Given the description of an element on the screen output the (x, y) to click on. 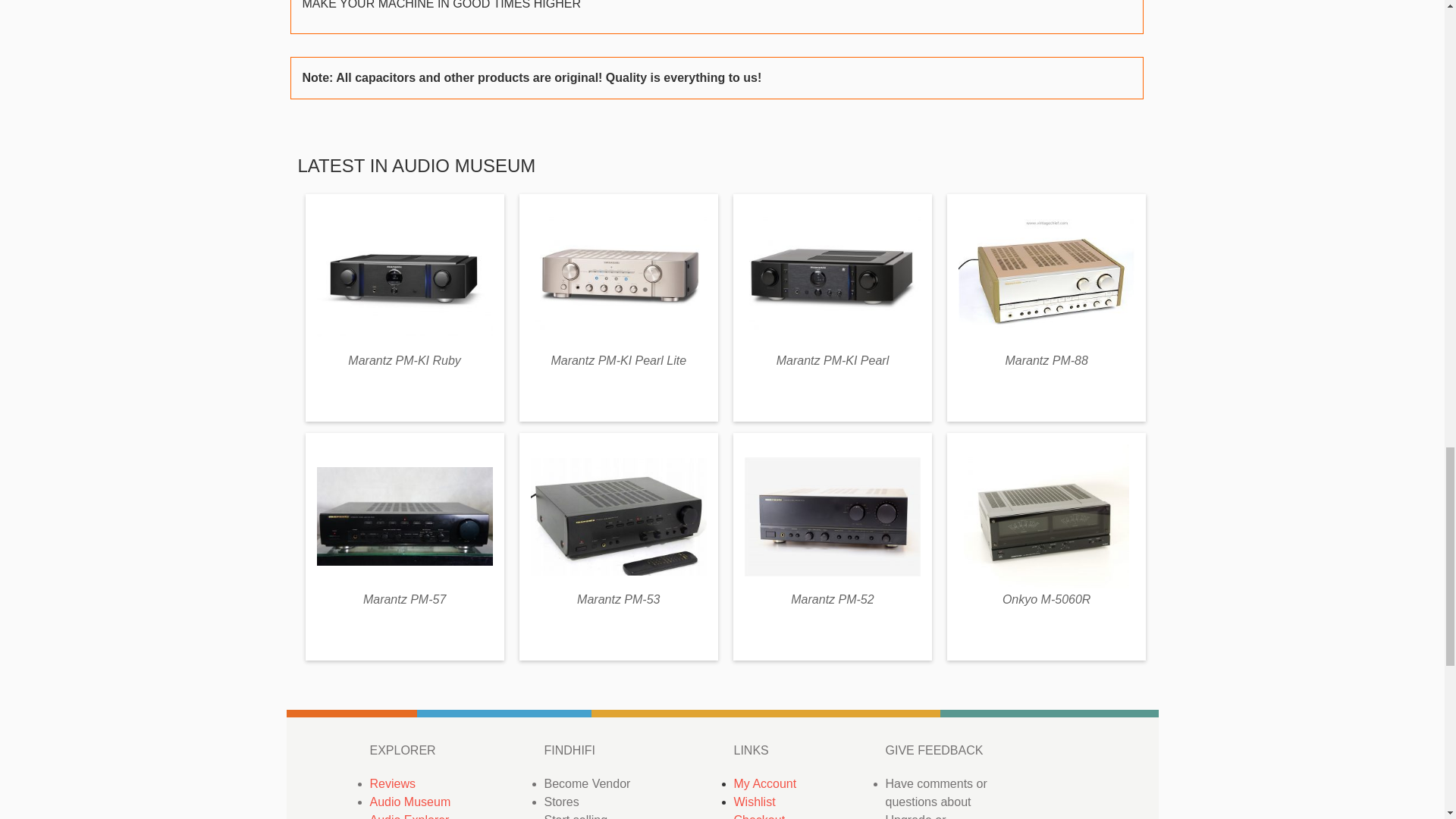
Marantz PM-KI Pearl (832, 359)
Marantz PM-KI Pearl Lite (617, 359)
Marantz PM-KI Pearl Lite (617, 359)
Reviews (391, 783)
Marantz PM-53 (617, 599)
Marantz PM-53 (617, 599)
Marantz PM-KI Ruby (403, 359)
Marantz PM-88 (1045, 359)
Onkyo M-5060R (1046, 599)
Marantz PM-57 (403, 599)
